Given the description of an element on the screen output the (x, y) to click on. 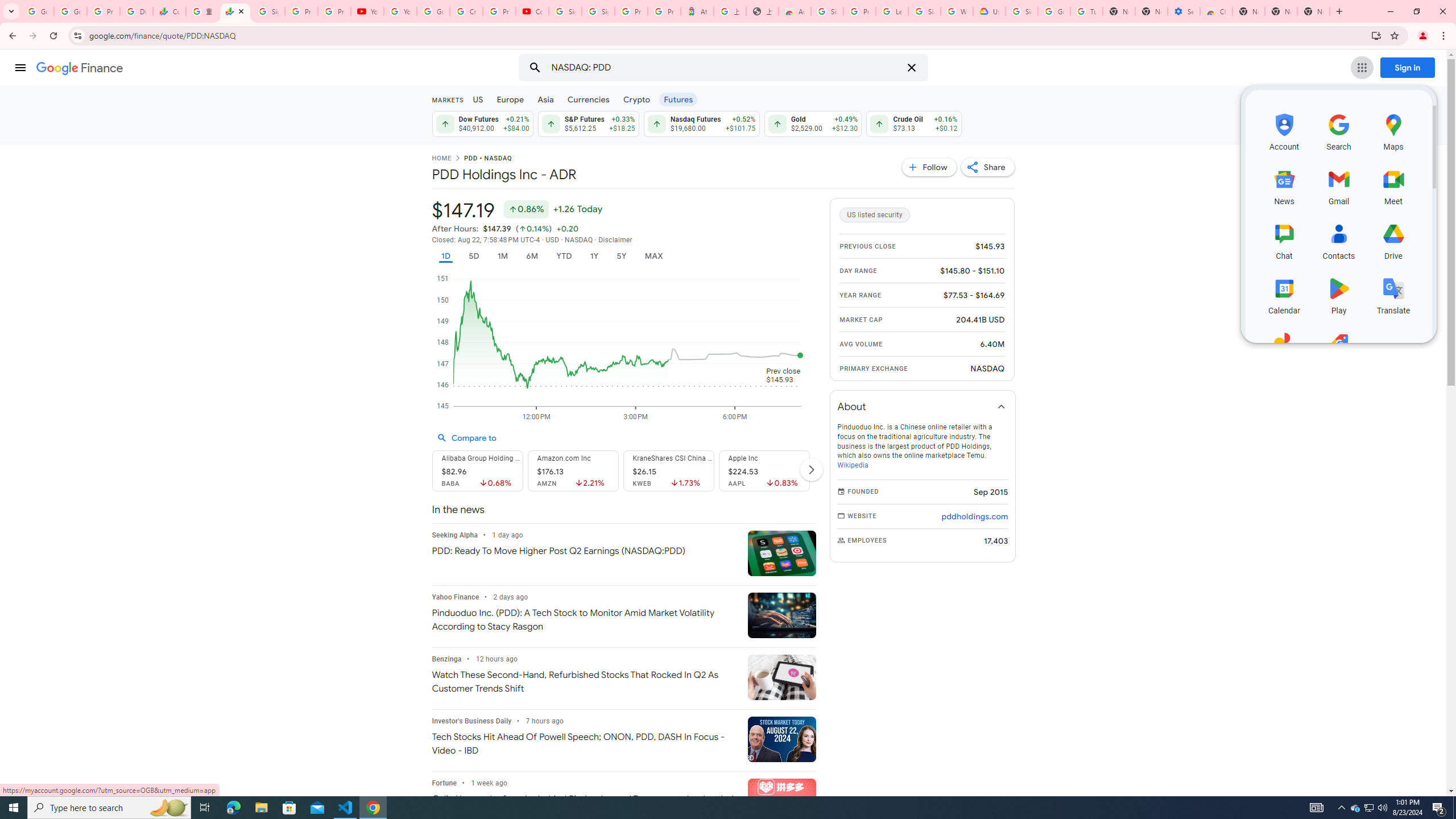
6M (531, 255)
Dow Futures $40,912.00 Up by 0.20% +$84.00 (481, 123)
Search for stocks, ETFs & more (724, 67)
1Y (594, 255)
Disclaimer (614, 239)
YouTube (400, 11)
Atour Hotel - Google hotels (697, 11)
